Given the description of an element on the screen output the (x, y) to click on. 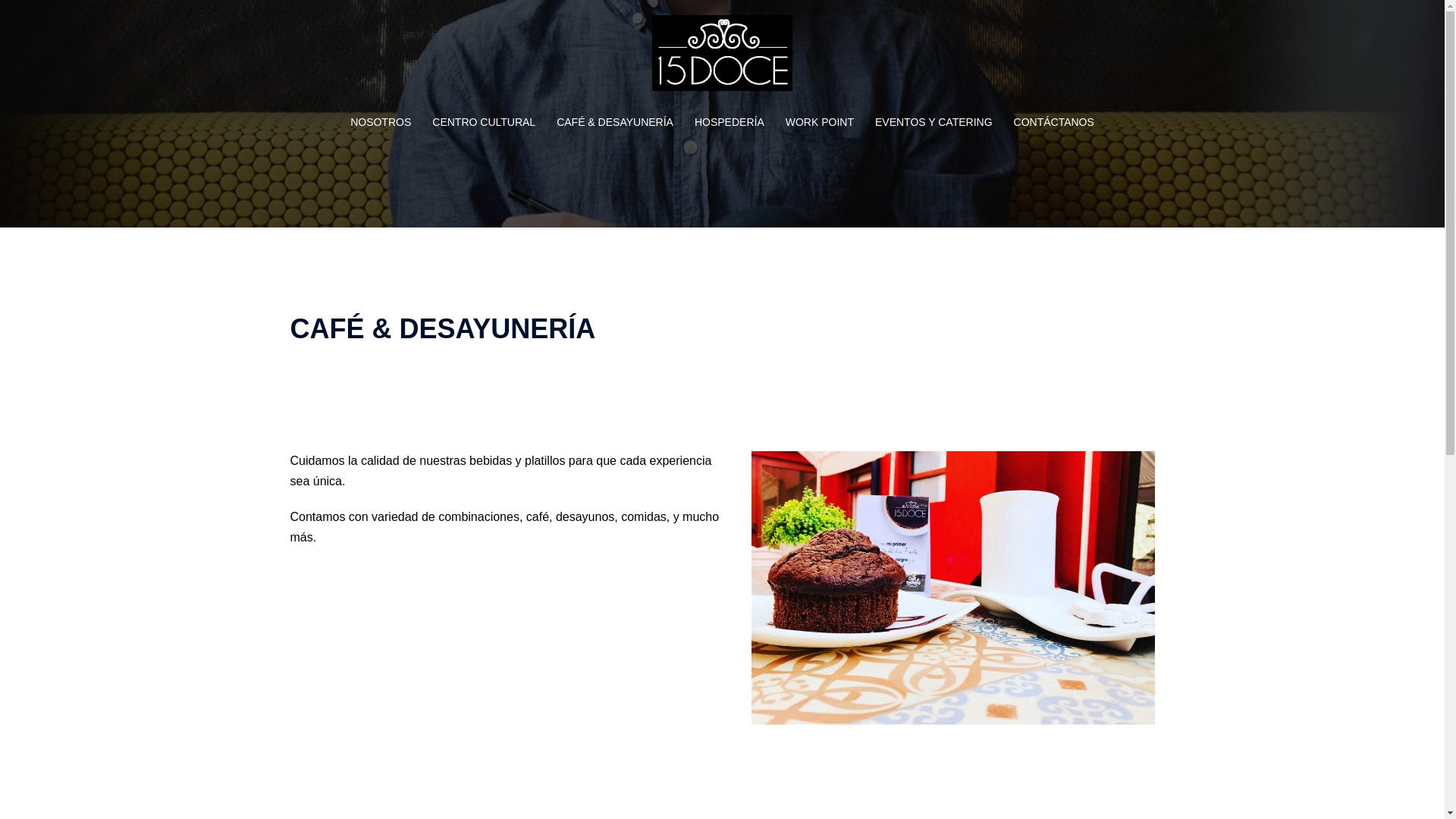
NOSOTROS Element type: text (380, 122)
15doce.com Element type: hover (722, 57)
CENTRO CULTURAL Element type: text (483, 122)
WORK POINT Element type: text (819, 122)
WhatsApp Image 2018-03-28 at 14.09.31 Element type: hover (952, 587)
EVENTOS Y CATERING Element type: text (933, 122)
